Given the description of an element on the screen output the (x, y) to click on. 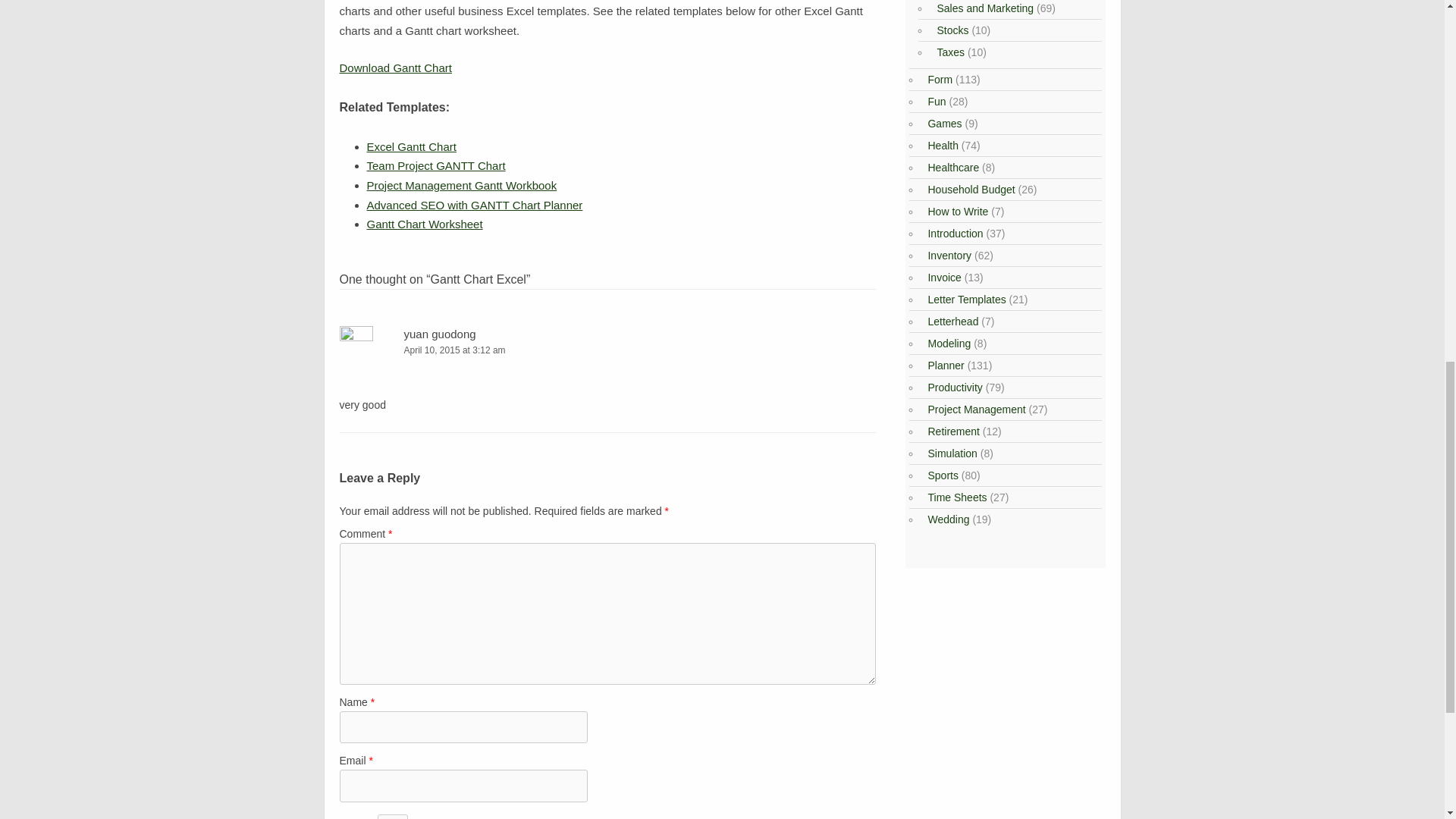
January 14, 2009 (424, 223)
Project Management Gantt Workbook (461, 185)
April 10, 2015 at 3:12 am (607, 350)
August 25, 2016 (474, 205)
Advanced SEO with GANTT Chart Planner (474, 205)
Download Gantt Chart (395, 67)
September 8, 2015 (461, 185)
October 6, 2016 (435, 164)
Gantt Chart Worksheet (424, 223)
Team Project GANTT Chart (435, 164)
